Given the description of an element on the screen output the (x, y) to click on. 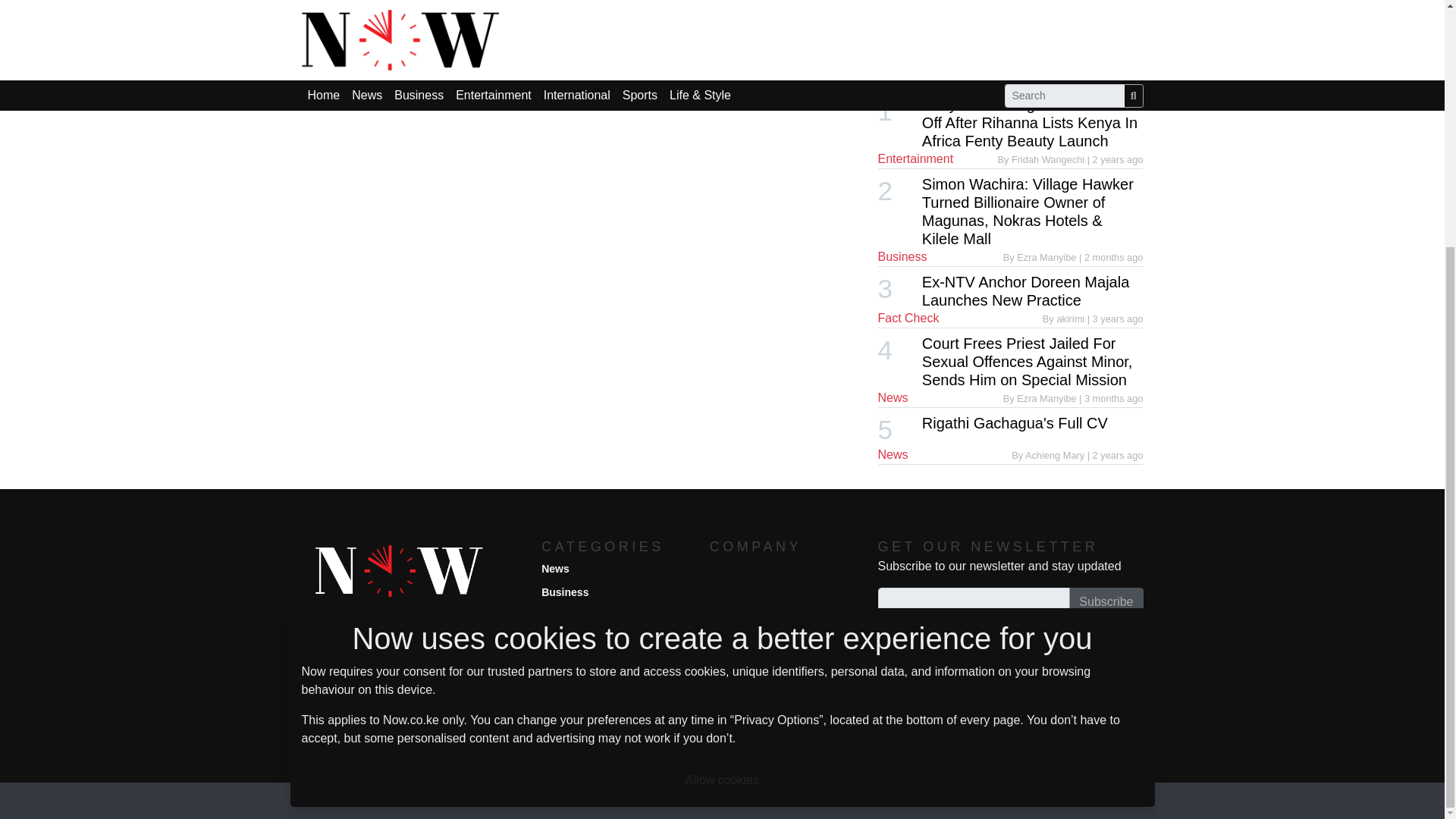
News (892, 397)
Ezra Manyibe (1047, 398)
Fact Check (908, 318)
Business (564, 591)
Sports (558, 662)
Entertainment (576, 615)
Fridah Wangechi (1049, 159)
Ex-NTV Anchor Doreen Majala Launches New Practice (1025, 290)
Ezra Manyibe (1047, 256)
International (573, 639)
News (892, 454)
News (555, 568)
Allow cookies (721, 434)
Achieng Mary (1056, 455)
